Given the description of an element on the screen output the (x, y) to click on. 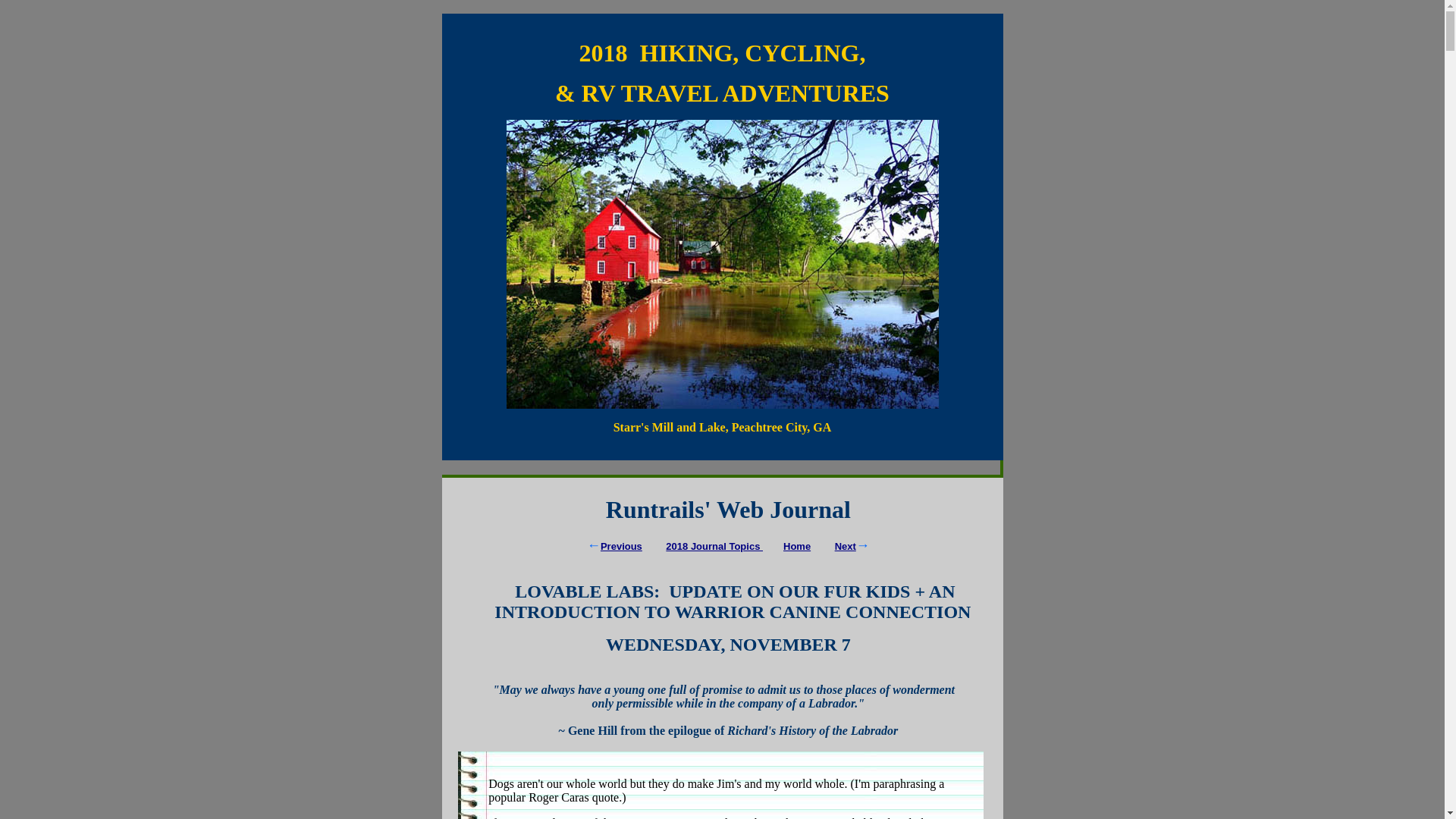
2018 Journal Topics  (713, 546)
Home (796, 546)
Previous (620, 546)
Next (845, 546)
